Given the description of an element on the screen output the (x, y) to click on. 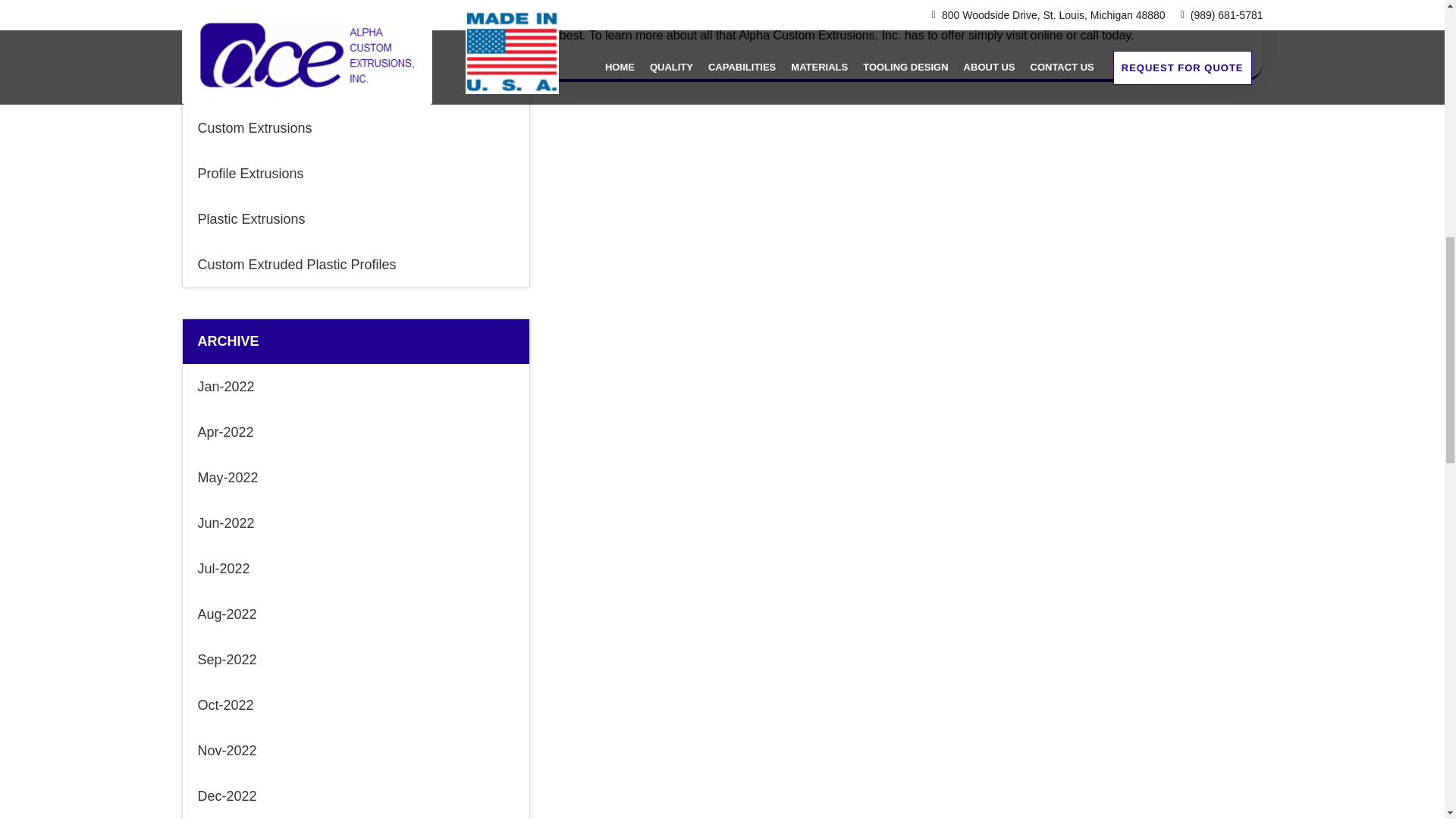
Profile Extrusions (355, 173)
Aug-2022 (355, 614)
Plastic Sheet Cutting Services (355, 36)
Jun-2022 (355, 523)
Custom Extruded Plastic Profiles (355, 264)
Sonic Welding Services (355, 82)
Custom Extrusions (355, 127)
Sep-2022 (355, 659)
Oct-2022 (355, 705)
Jan-2022 (355, 386)
Plastic Extrusions (355, 218)
May-2022 (355, 477)
Plastic CNC Fabrication (355, 7)
Dec-2022 (355, 796)
Jul-2022 (355, 568)
